Given the description of an element on the screen output the (x, y) to click on. 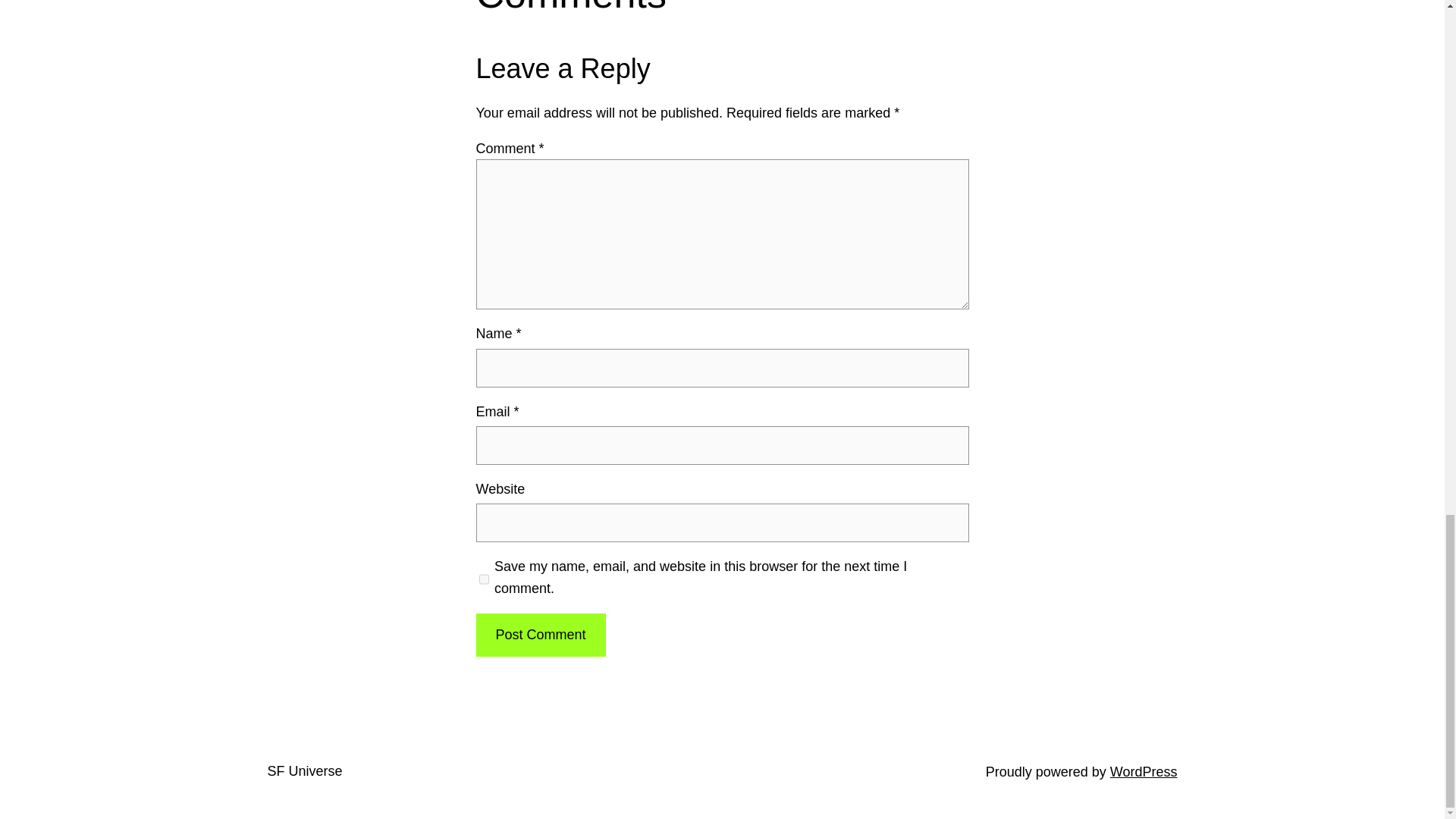
WordPress (1143, 771)
SF Universe (304, 770)
Post Comment (540, 634)
Post Comment (540, 634)
